Given the description of an element on the screen output the (x, y) to click on. 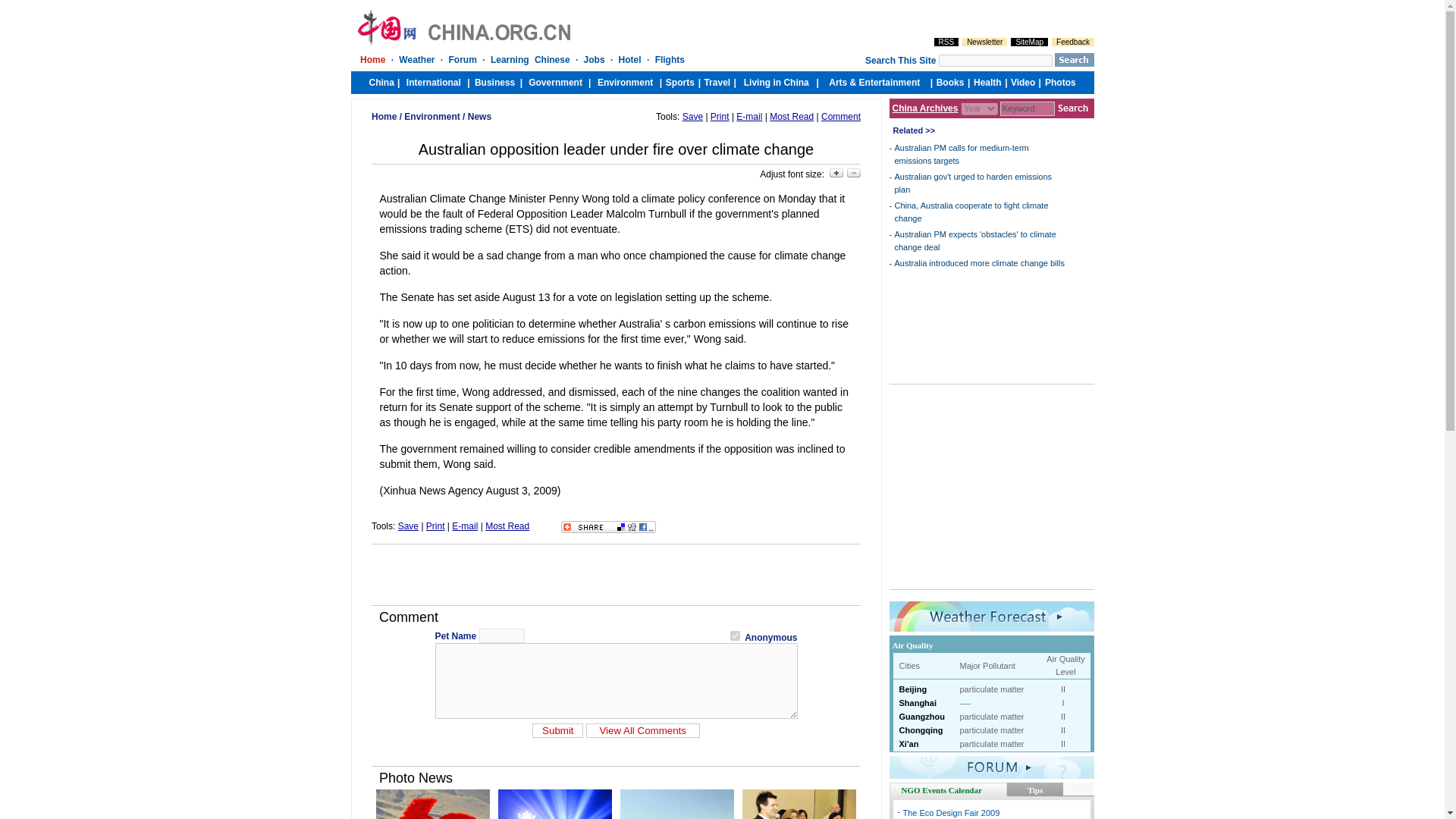
Advertisement (615, 574)
Home (383, 116)
Australian PM calls for medium-term emissions targets (962, 154)
Most Read (506, 525)
Environment (432, 116)
E-mail (748, 116)
Save (692, 116)
Save (408, 525)
View All Comments (643, 730)
Print (435, 525)
Comment (840, 116)
Cities (909, 665)
Australia introduced more climate change bills (979, 262)
Air Quality (912, 645)
Most Read (791, 116)
